Given the description of an element on the screen output the (x, y) to click on. 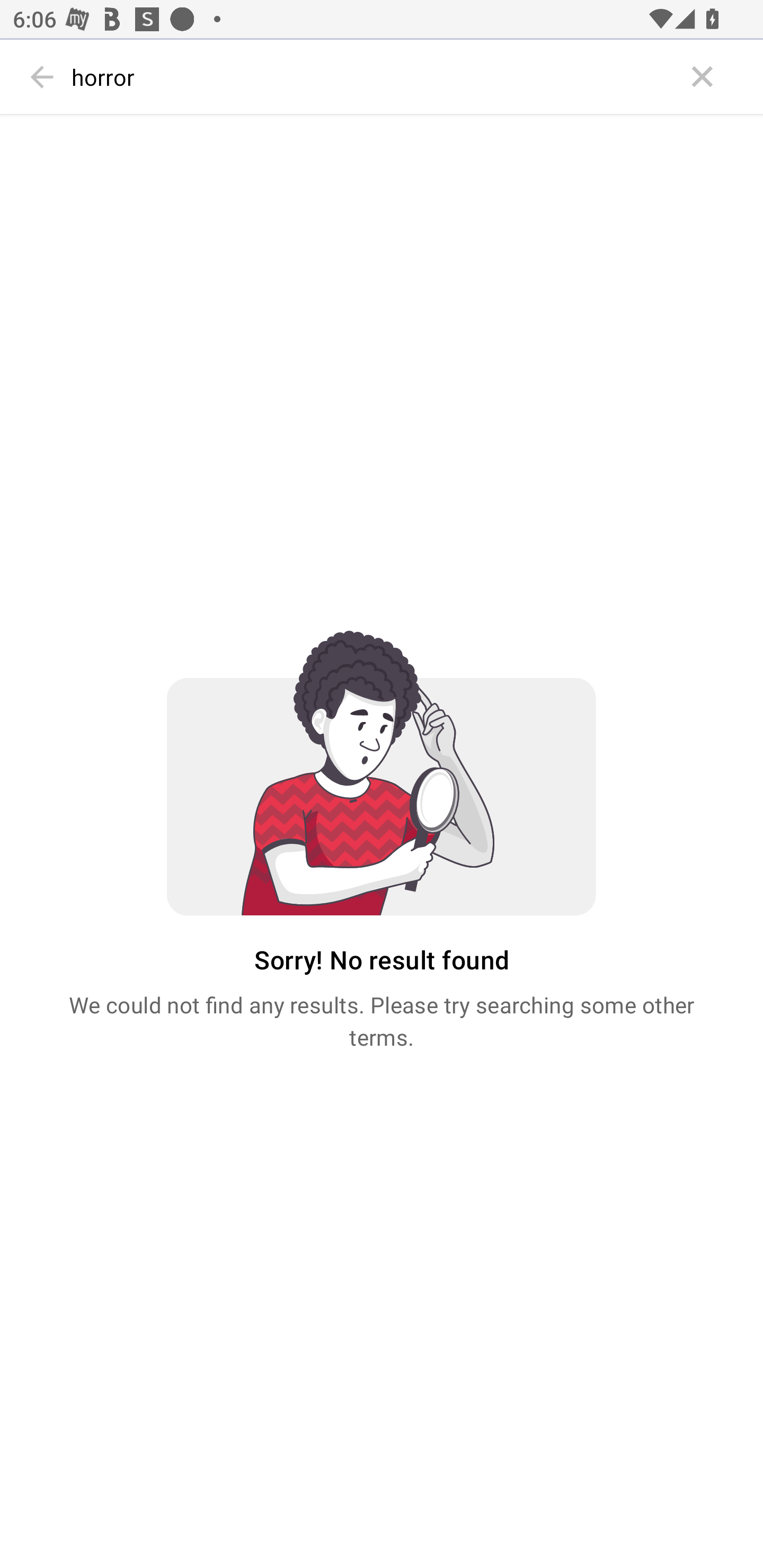
Back (42, 76)
horror (373, 76)
Close (702, 76)
